Given the description of an element on the screen output the (x, y) to click on. 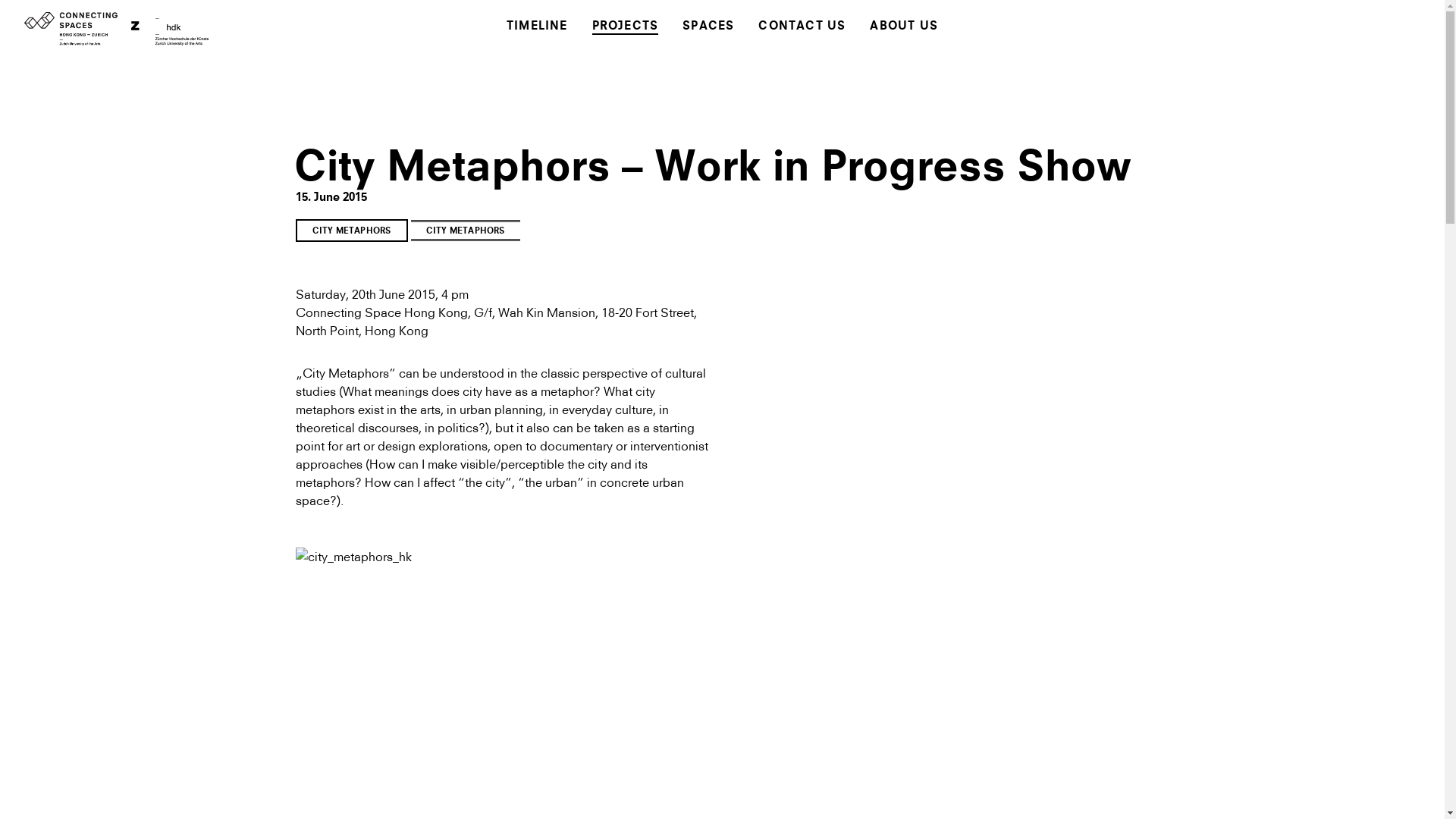
CITY METAPHORS Element type: text (351, 229)
SPACES Element type: text (708, 27)
CITY METAPHORS Element type: text (465, 230)
PROJECTS Element type: text (625, 27)
CONTACT US Element type: text (801, 27)
TIMELINE Element type: text (536, 27)
ABOUT US Element type: text (903, 27)
